Given the description of an element on the screen output the (x, y) to click on. 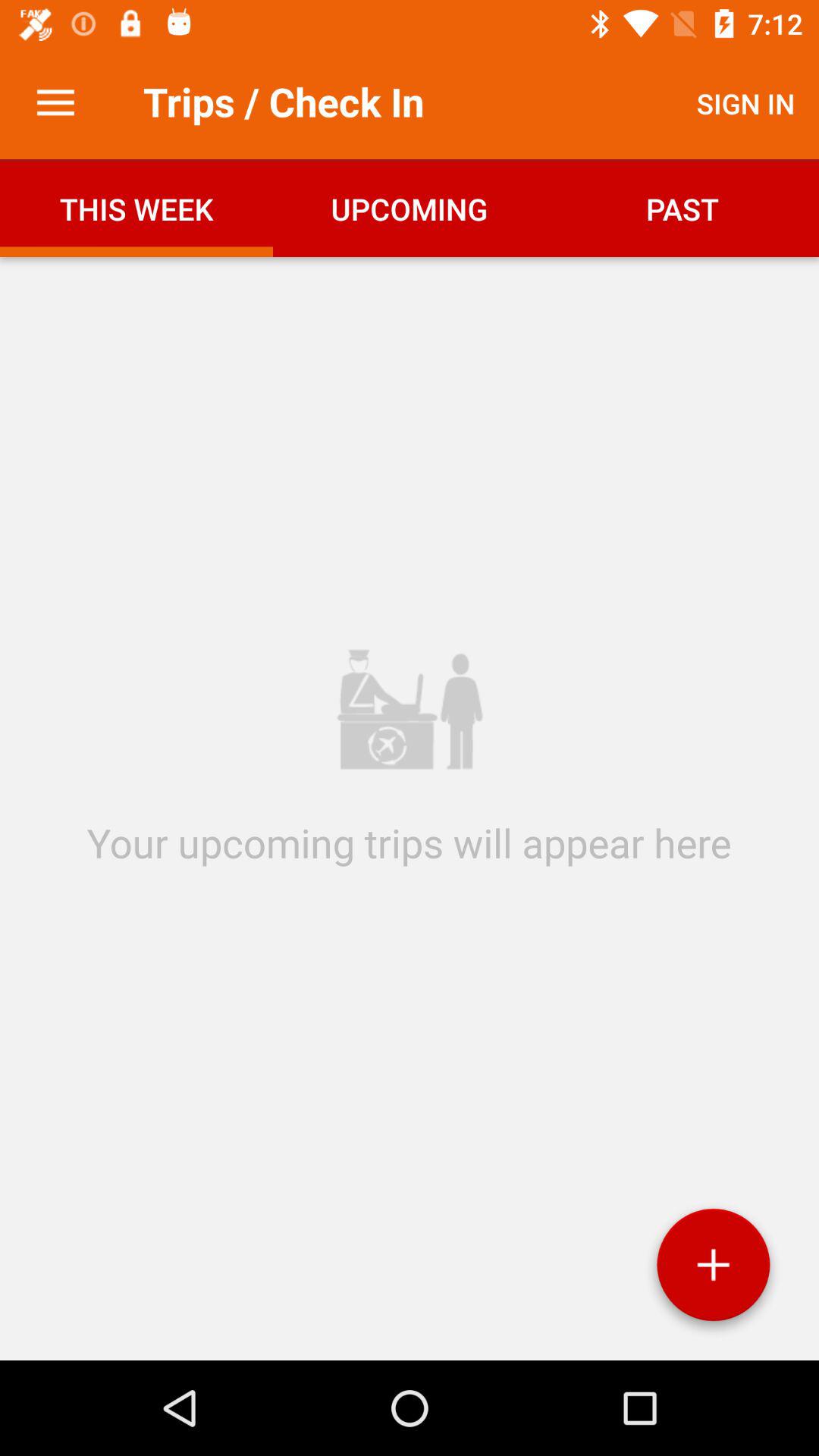
choose the item next to the trips / check in item (55, 103)
